Given the description of an element on the screen output the (x, y) to click on. 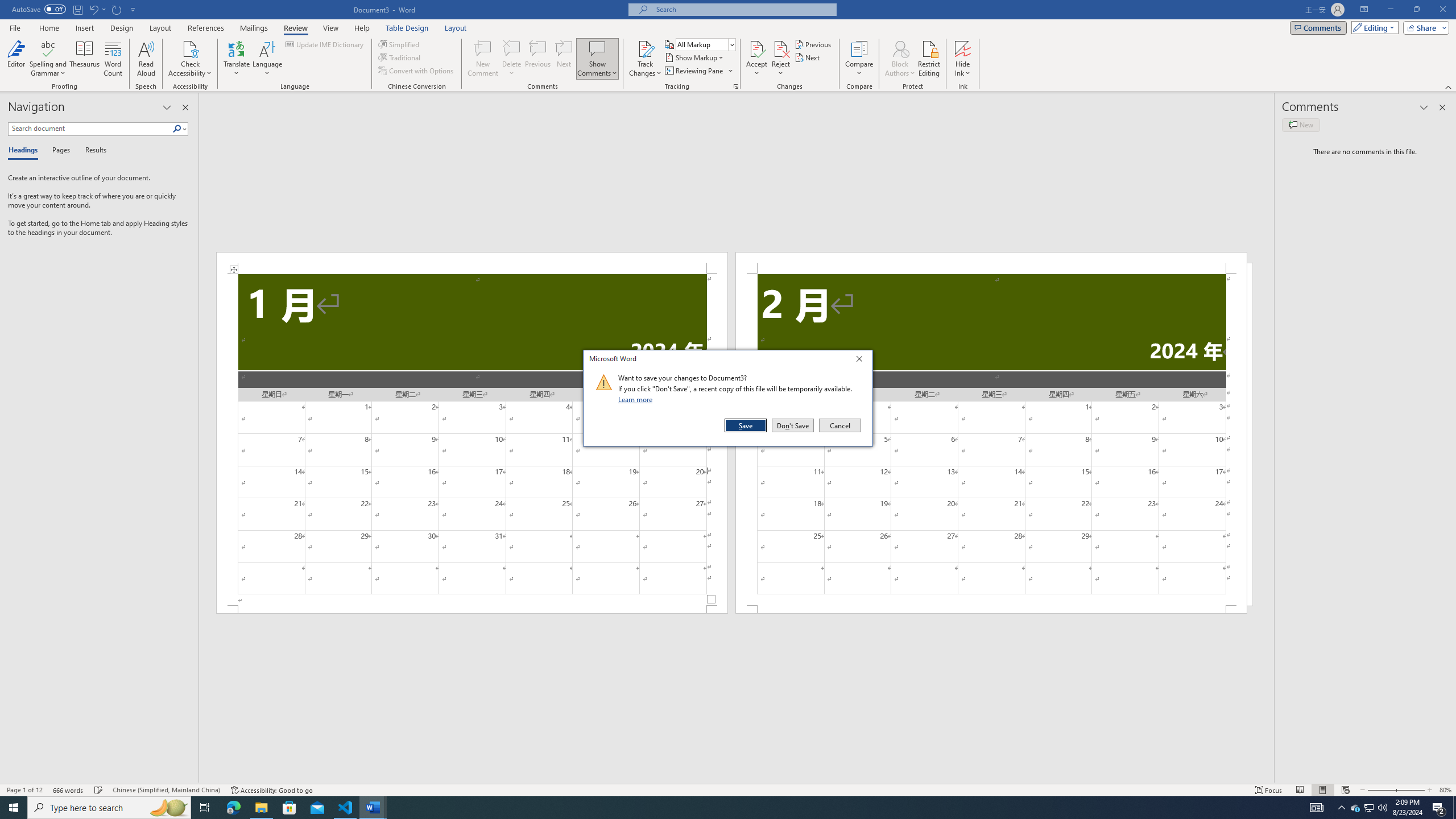
Notification Chevron (1341, 807)
Check Accessibility (189, 58)
User Promoted Notification Area (1368, 807)
